Given the description of an element on the screen output the (x, y) to click on. 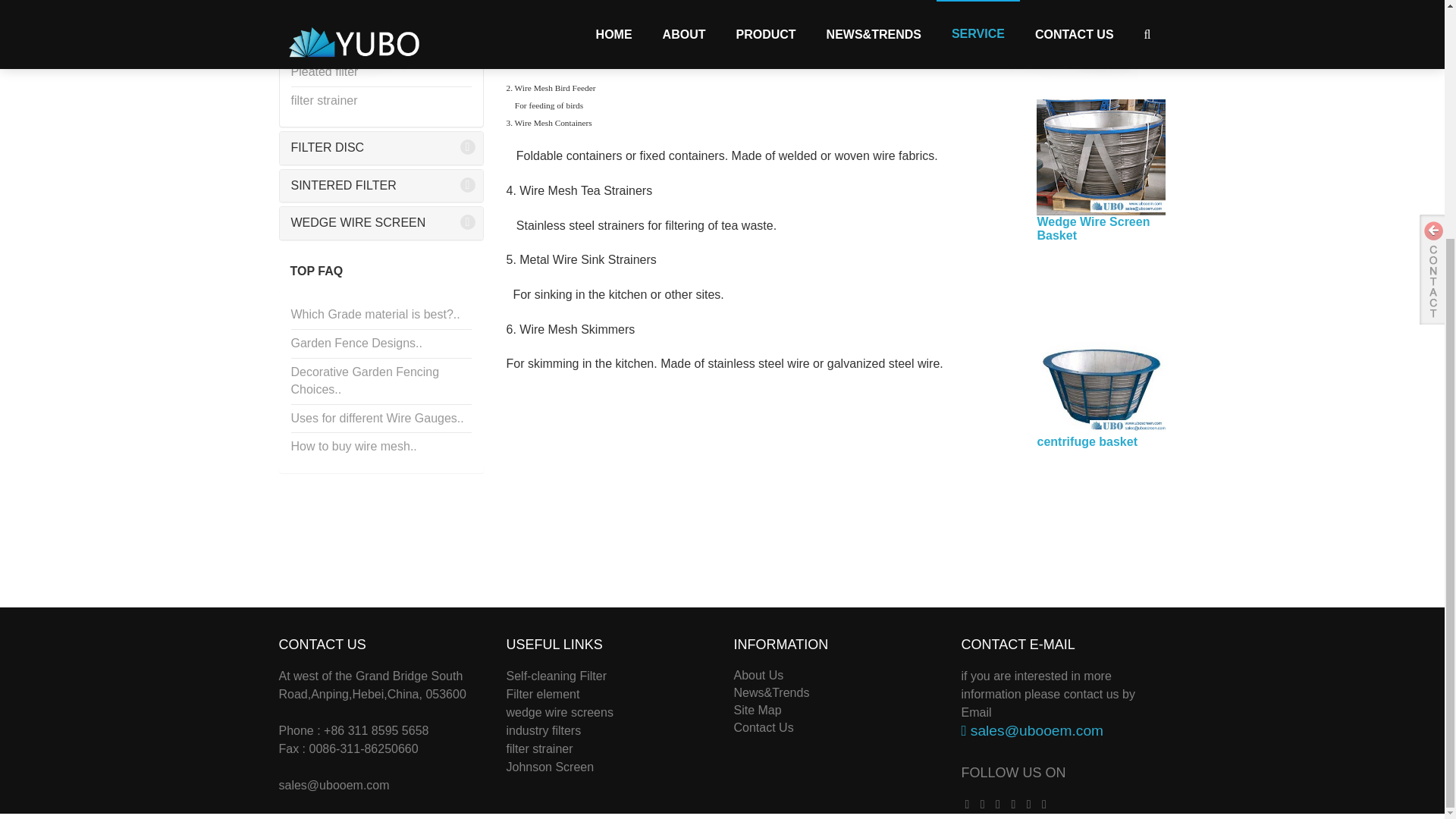
filter strainer (381, 100)
Contact Us (763, 727)
wedge wire screens (559, 712)
Basket Filters (381, 14)
filter element (542, 694)
filter strainer (539, 748)
FILTER DISC (380, 147)
Johnson Screen (550, 766)
SINTERED FILTER (380, 185)
Cylinder filter (381, 43)
Self-cleaning Filter (556, 675)
Pleated filter (381, 72)
industry filters (543, 730)
Site Map (757, 709)
